Given the description of an element on the screen output the (x, y) to click on. 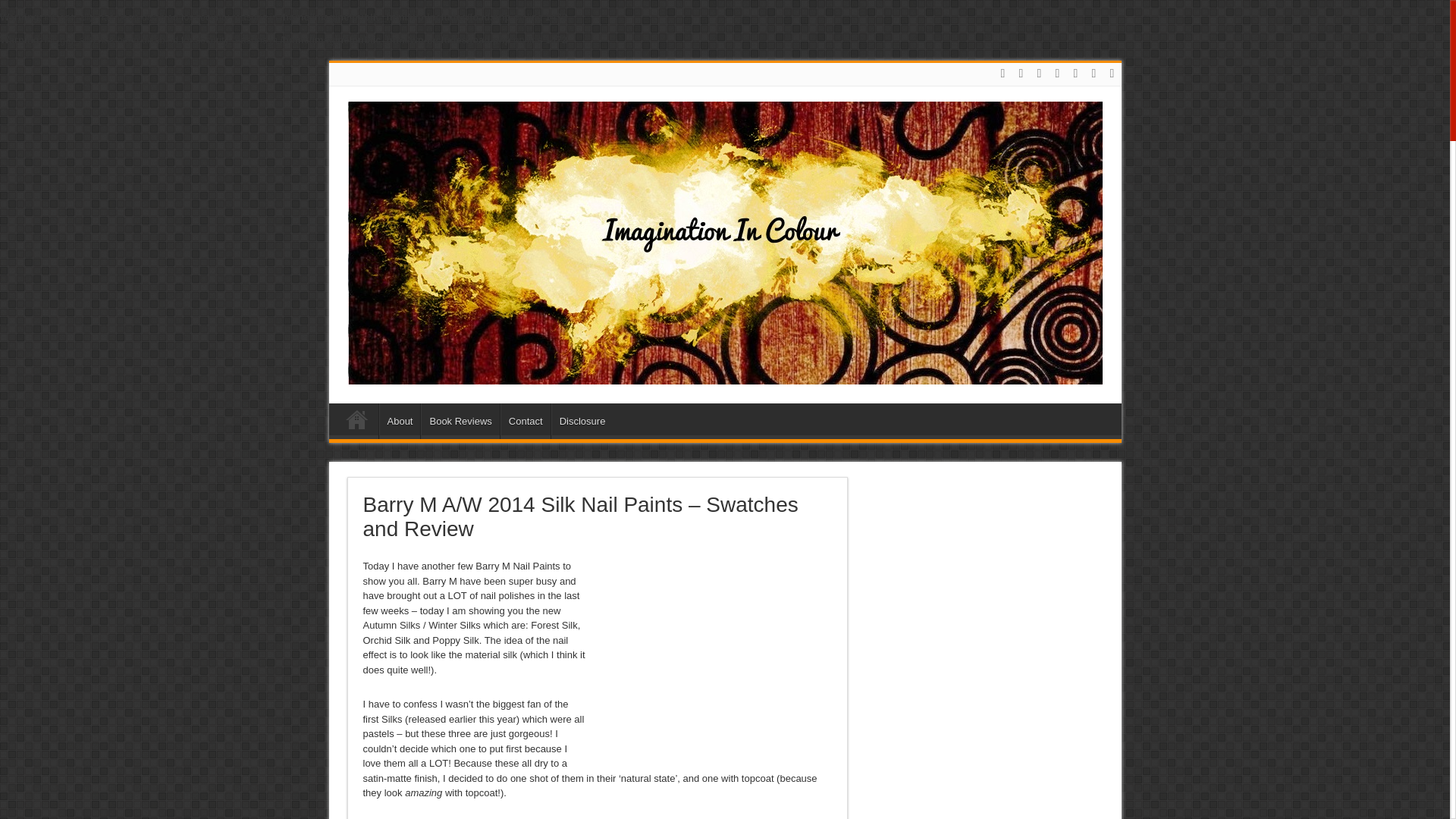
Imagination In Colour (724, 372)
Disclosure (581, 420)
Book Reviews (459, 420)
Home (357, 423)
About (399, 420)
Contact (525, 420)
Advertisement (708, 652)
